Given the description of an element on the screen output the (x, y) to click on. 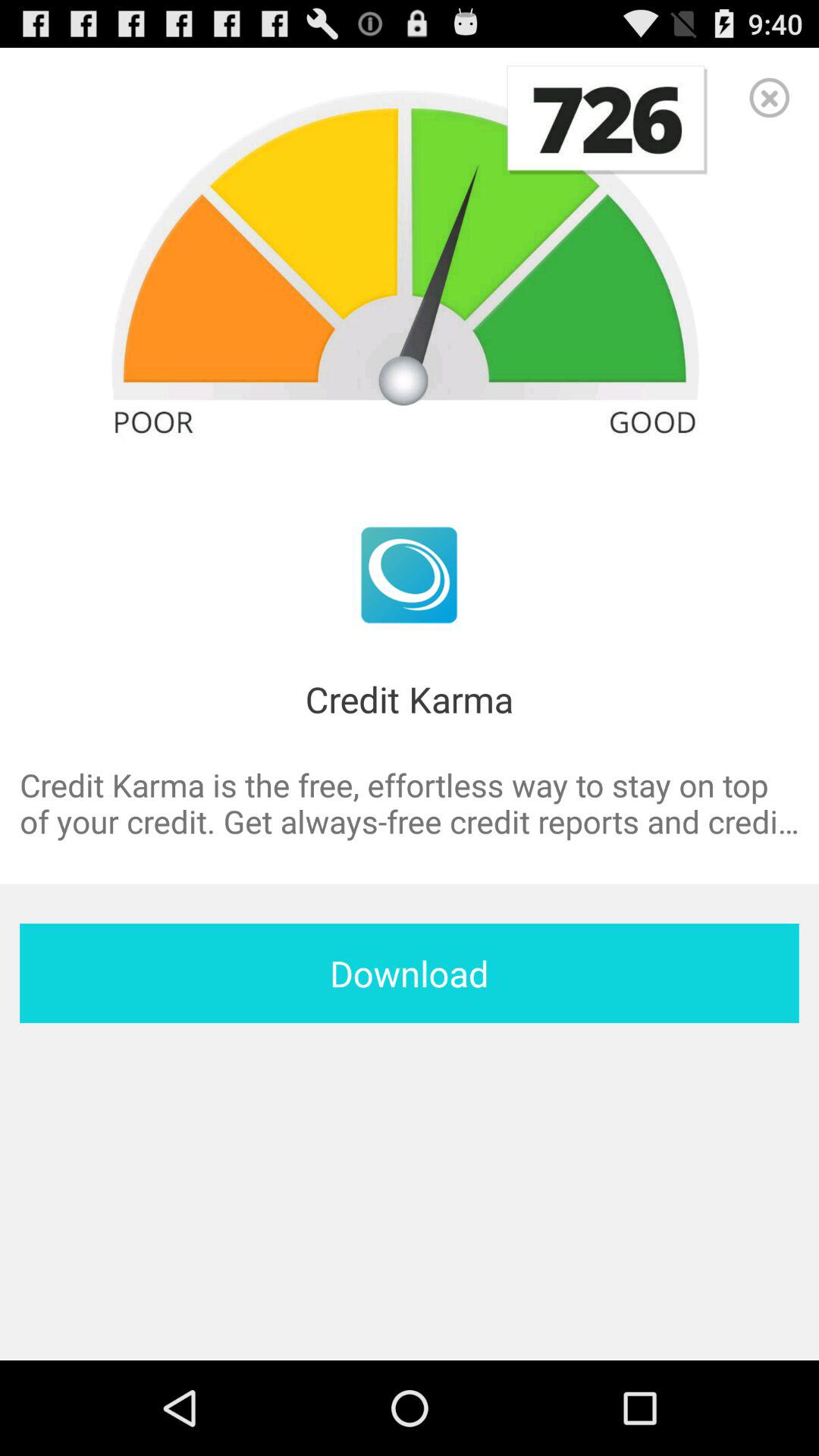
turn off the app above the credit karma is icon (769, 97)
